Given the description of an element on the screen output the (x, y) to click on. 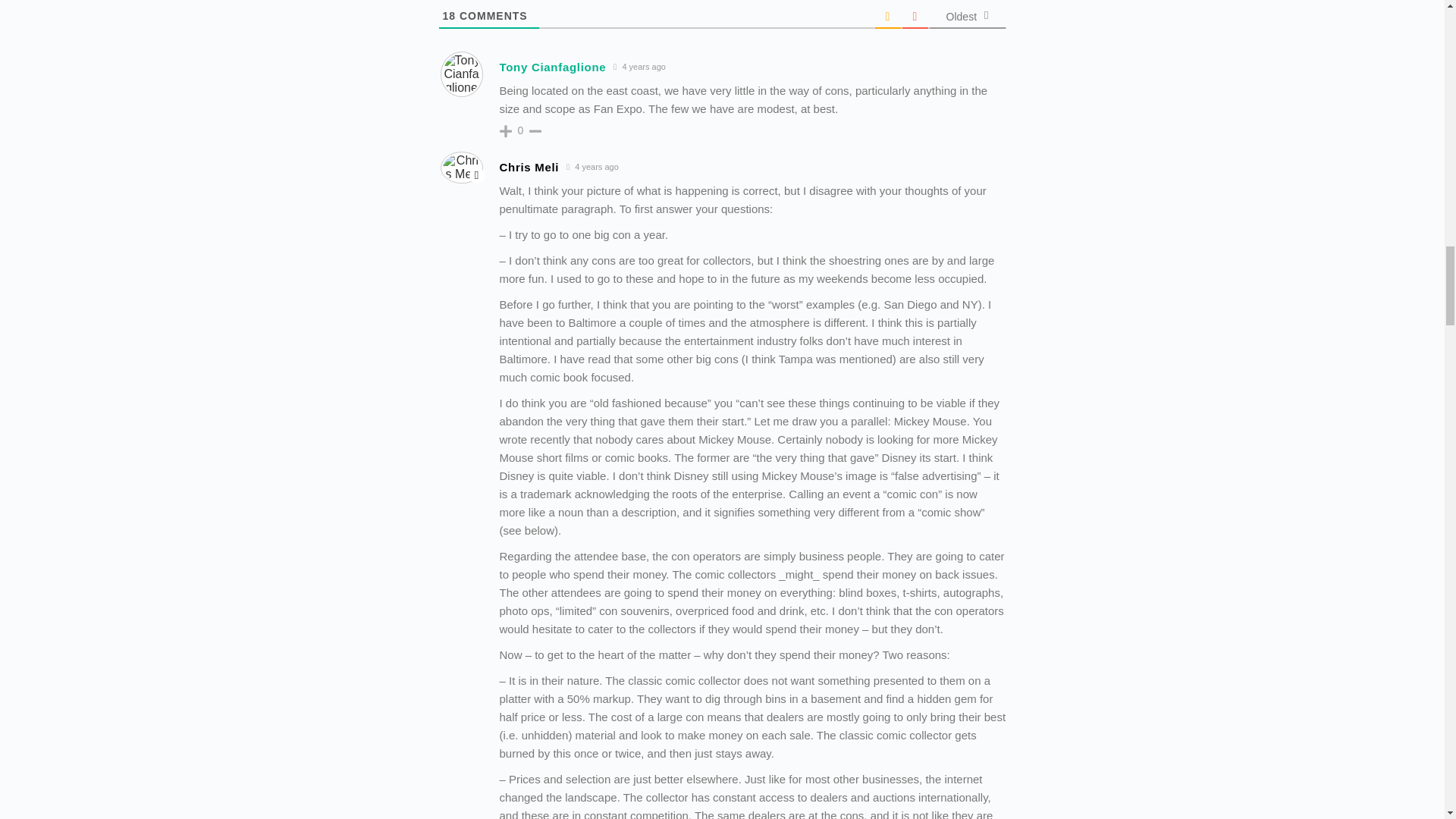
February 24, 2020 10:01 am (639, 66)
18 (449, 15)
0 (520, 130)
February 24, 2020 10:20 am (592, 166)
